Given the description of an element on the screen output the (x, y) to click on. 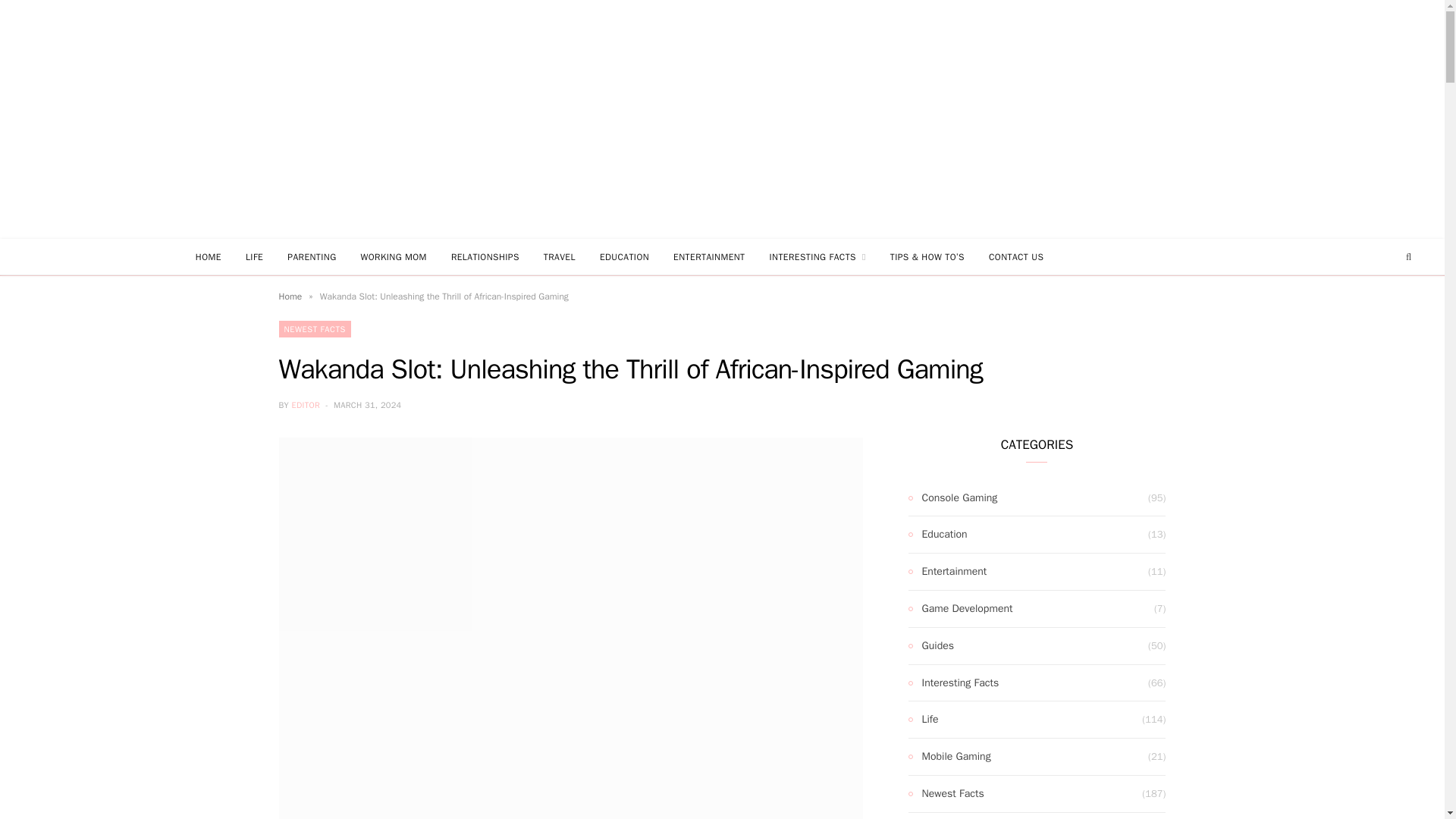
WORKING MOM (394, 257)
Interesting Facts (953, 683)
PARENTING (311, 257)
LIFE (253, 257)
CONTACT US (1016, 257)
ENTERTAINMENT (708, 257)
HOME (207, 257)
Entertainment (947, 571)
NEWEST FACTS (314, 329)
Posts by editor (306, 404)
